Given the description of an element on the screen output the (x, y) to click on. 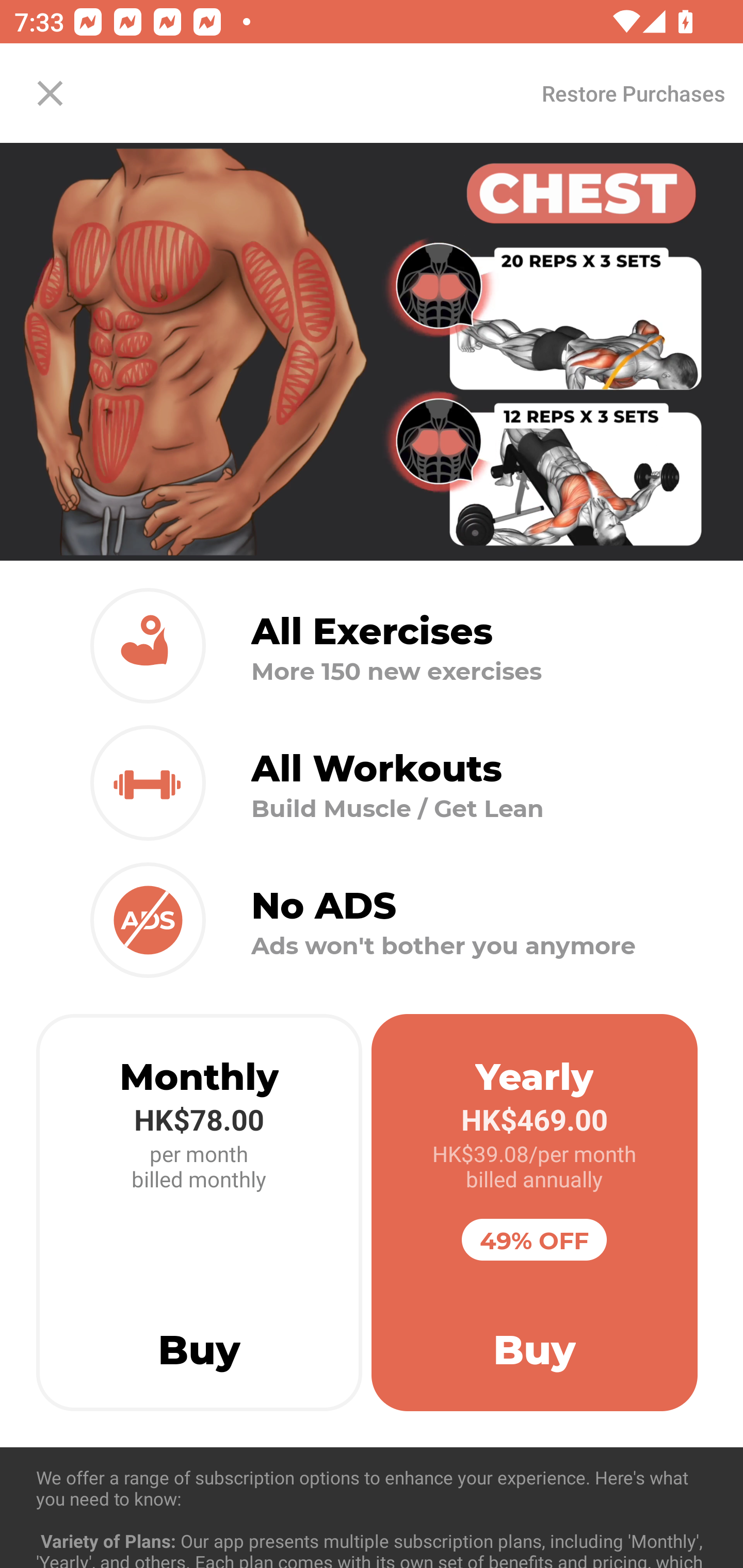
Restore Purchases (632, 92)
Monthly HK$78.00 per month
billed monthly Buy (199, 1212)
